Given the description of an element on the screen output the (x, y) to click on. 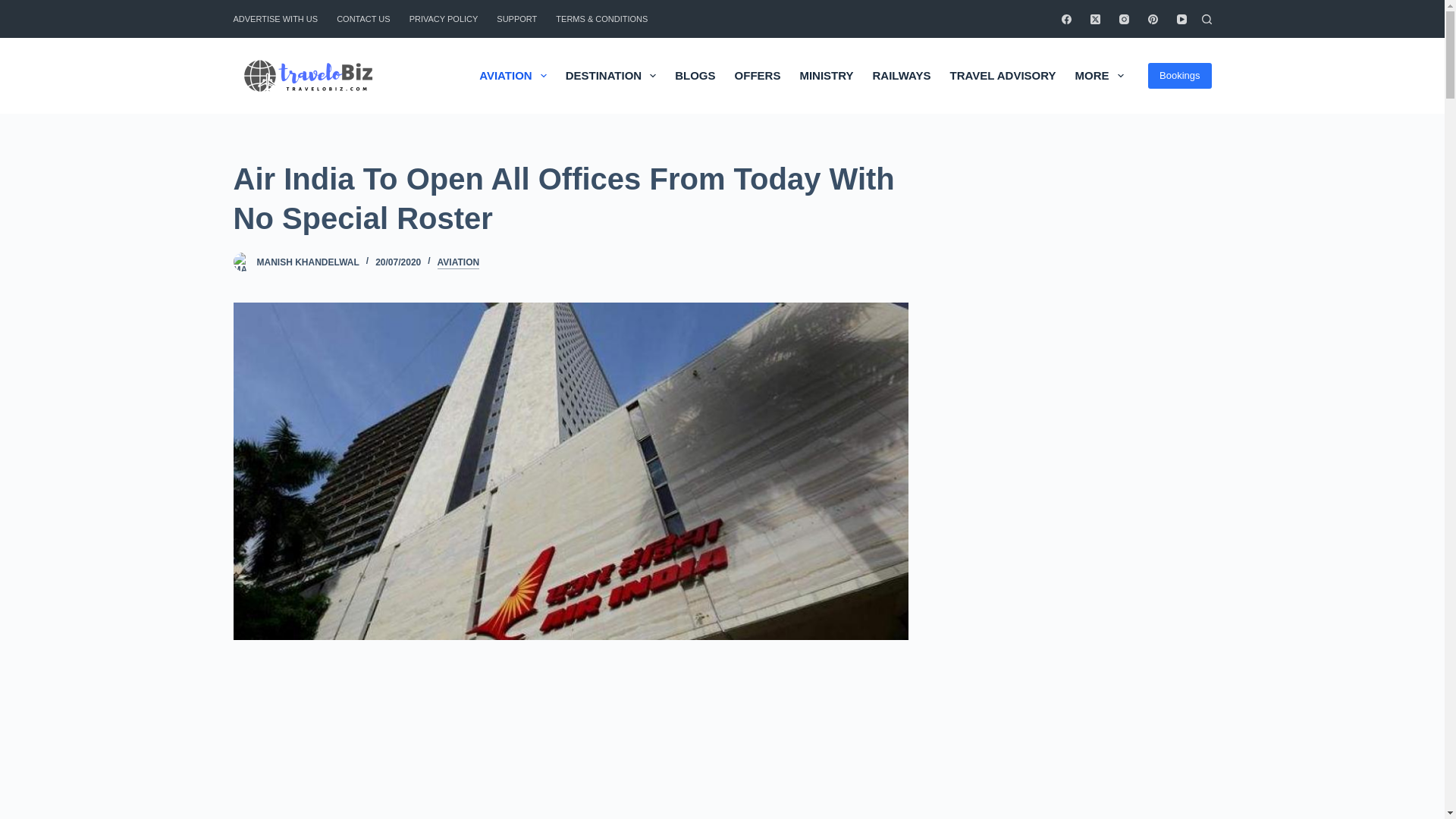
Skip to content (15, 7)
ADVERTISE WITH US (279, 18)
SUPPORT (517, 18)
PRIVACY POLICY (442, 18)
Posts by Manish Khandelwal (307, 262)
CONTACT US (363, 18)
Advertisement (536, 748)
